Given the description of an element on the screen output the (x, y) to click on. 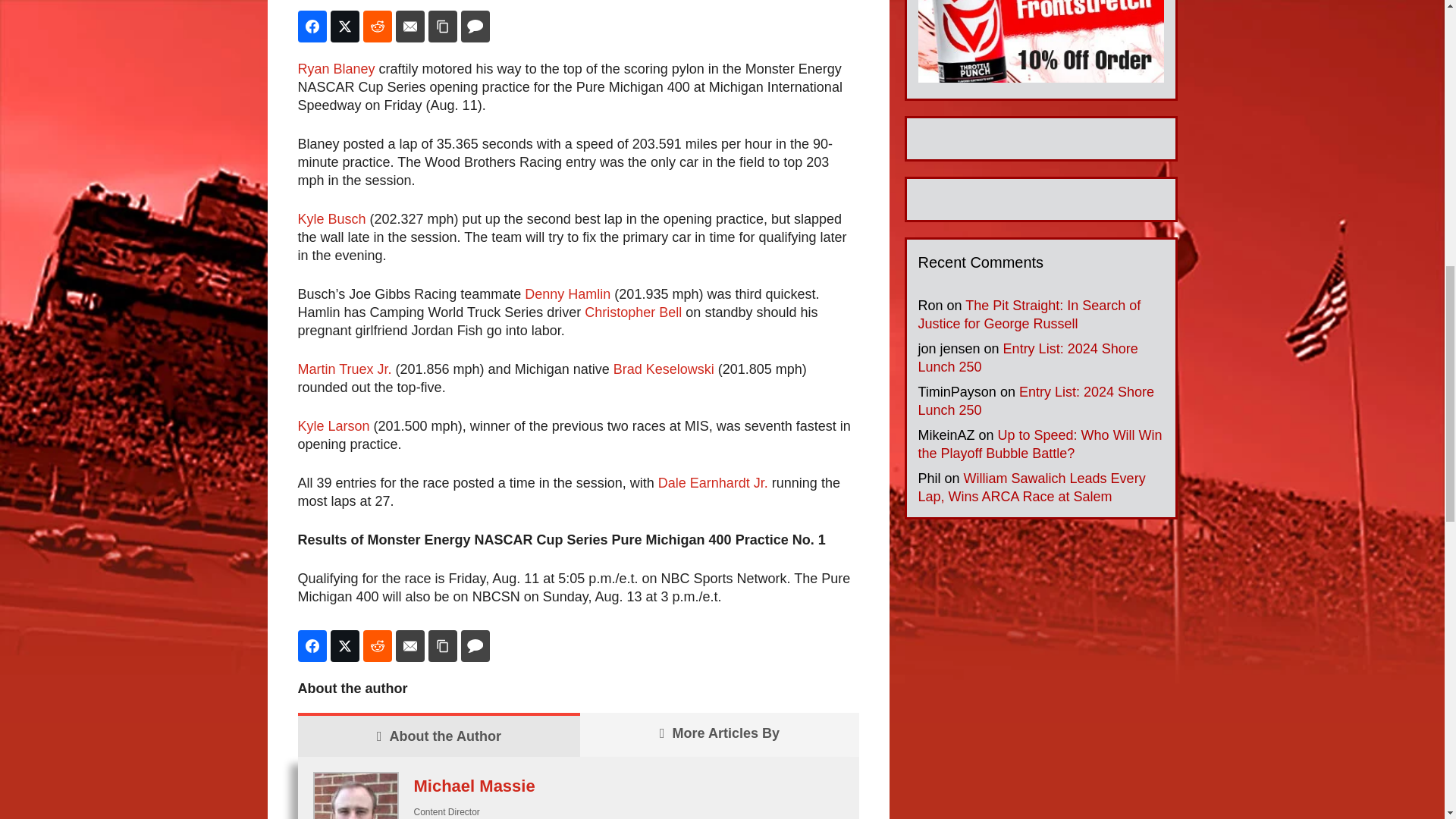
Kyle Larson (333, 426)
Share on Comments (475, 26)
Denny Hamlin (567, 294)
Christopher Bell (633, 312)
Share on Comments (475, 645)
Share on Twitter (344, 26)
Share on Email (410, 645)
Share on Email (410, 26)
Dale Earnhardt Jr. (713, 482)
Kyle Busch (331, 218)
Share on Reddit (376, 645)
Ryan Blaney (335, 68)
Michael Massie (474, 785)
Share on Reddit (376, 26)
Share on Copy Link (442, 26)
